Given the description of an element on the screen output the (x, y) to click on. 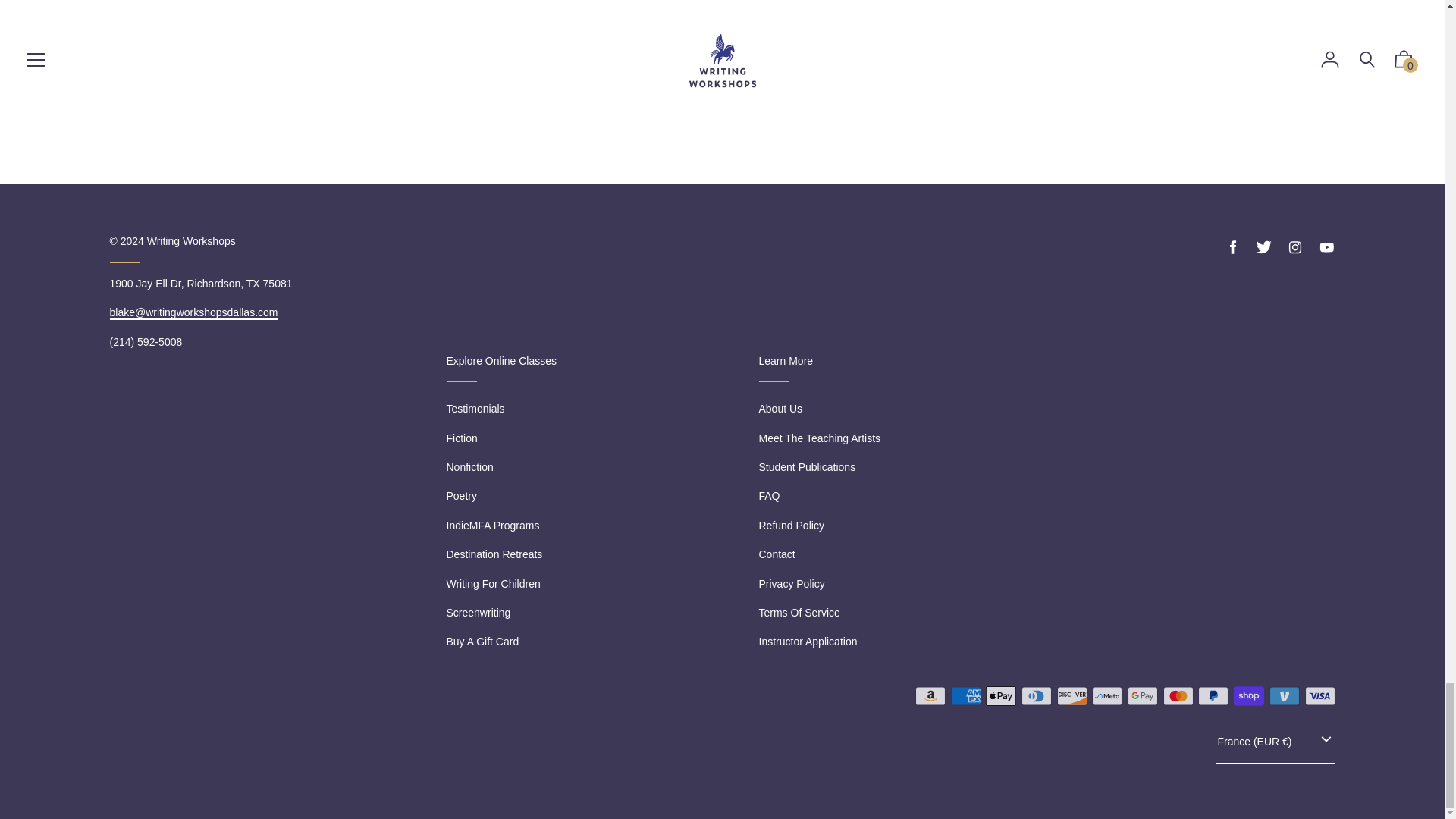
Venmo (1284, 695)
Writing Workshops on Facebook (1232, 247)
PayPal (1213, 695)
Writing Workshops on Twitter (1263, 247)
Meta Pay (1107, 695)
Mastercard (1178, 695)
Diners Club (1036, 695)
Google Pay (1141, 695)
Amazon (929, 695)
Writing Workshops on YouTube (1326, 247)
